Given the description of an element on the screen output the (x, y) to click on. 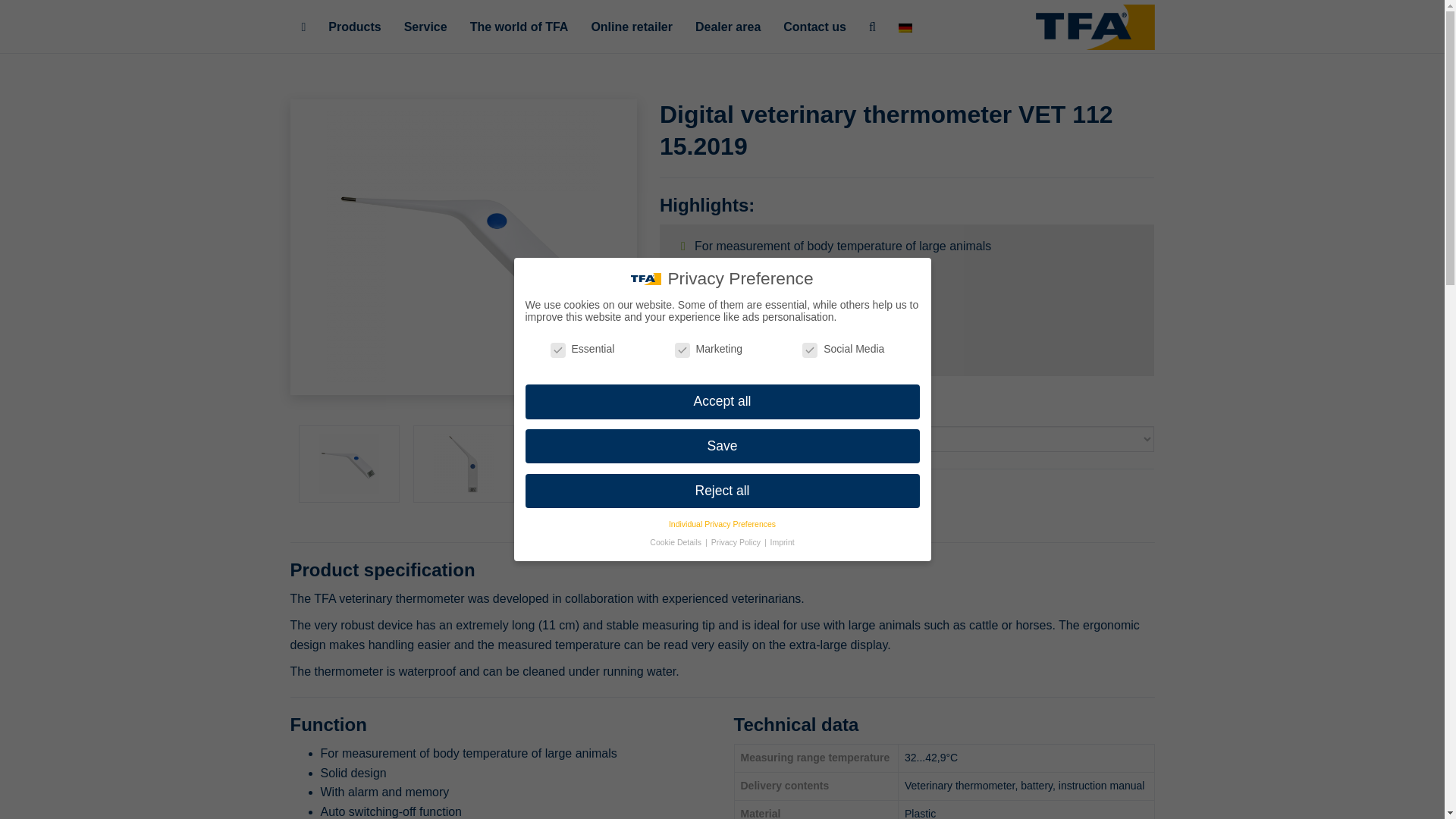
TFA Dostmann (1094, 27)
Products (354, 26)
